Given the description of an element on the screen output the (x, y) to click on. 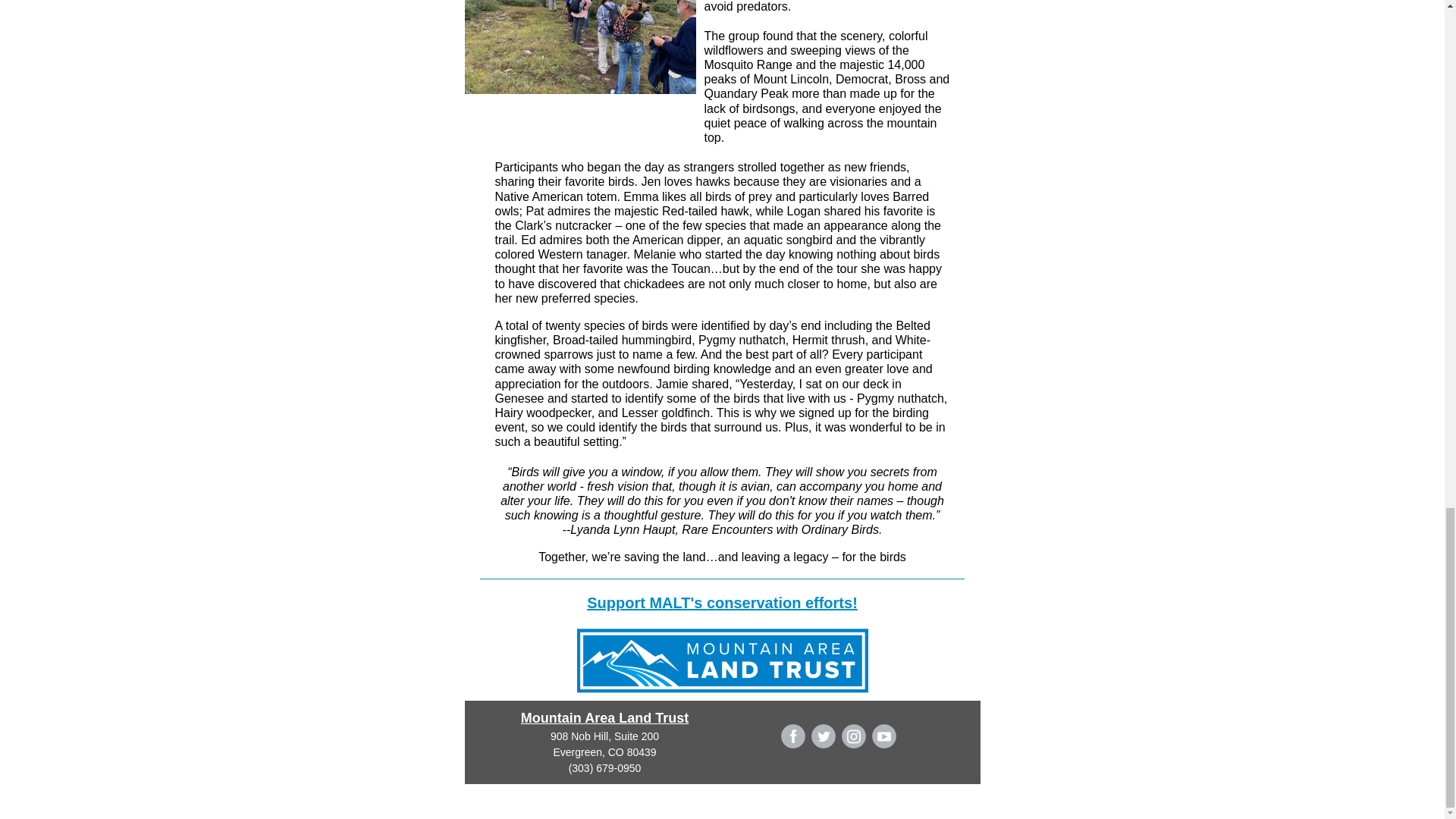
Mountain Area Land Trust (604, 717)
Support MALT's conservation efforts! (721, 602)
